Given the description of an element on the screen output the (x, y) to click on. 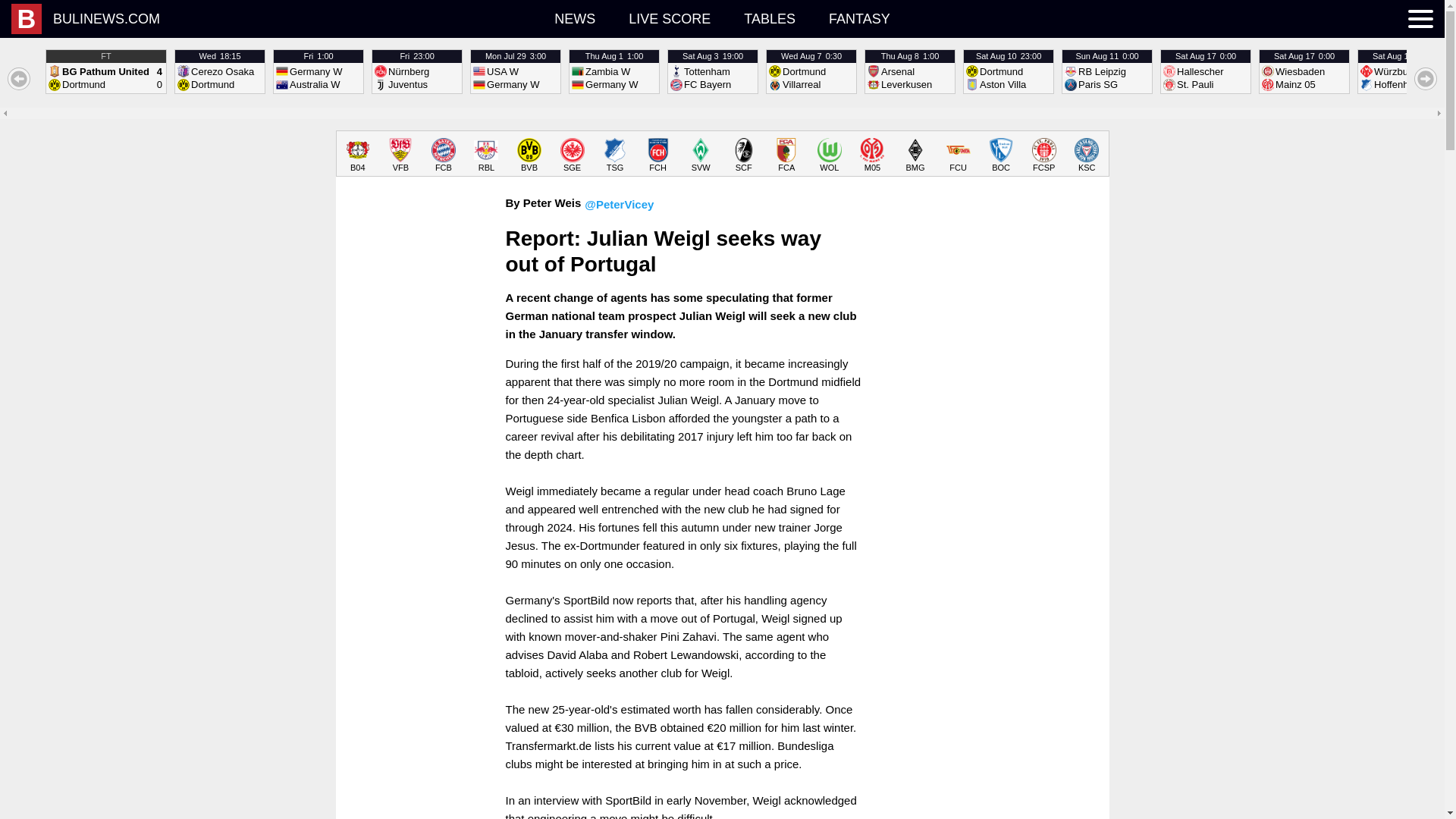
B (26, 19)
SC Freiburg News (743, 154)
NEWS (574, 18)
TABLES (219, 71)
Bochum News (769, 18)
Wolfsburg News (1001, 154)
FC Bayern News (829, 154)
FC Augsburg News (443, 154)
Eintracht Frankfurt News (786, 154)
LIVE SCORE (572, 154)
Bayer Leverkusen News (668, 18)
St. Pauli News (909, 71)
FC Heidenheim News (358, 154)
